Given the description of an element on the screen output the (x, y) to click on. 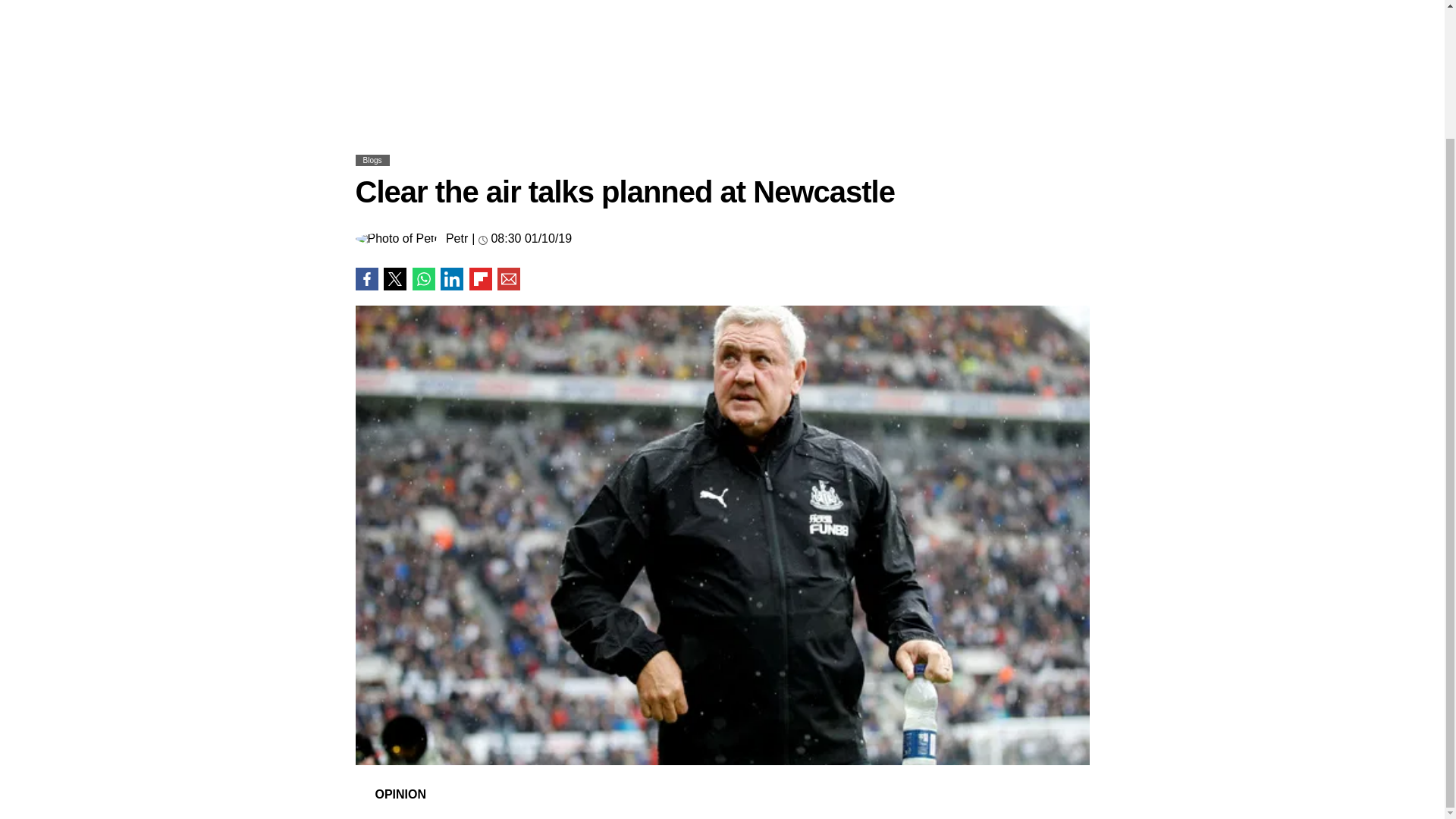
share on Facebook (366, 278)
Petr (456, 238)
Blogs (371, 160)
share on Email (508, 278)
share on Twitter (395, 278)
share on WhatsApp (423, 278)
share on LinkedIn (452, 278)
share on Flipboard (480, 278)
